Given the description of an element on the screen output the (x, y) to click on. 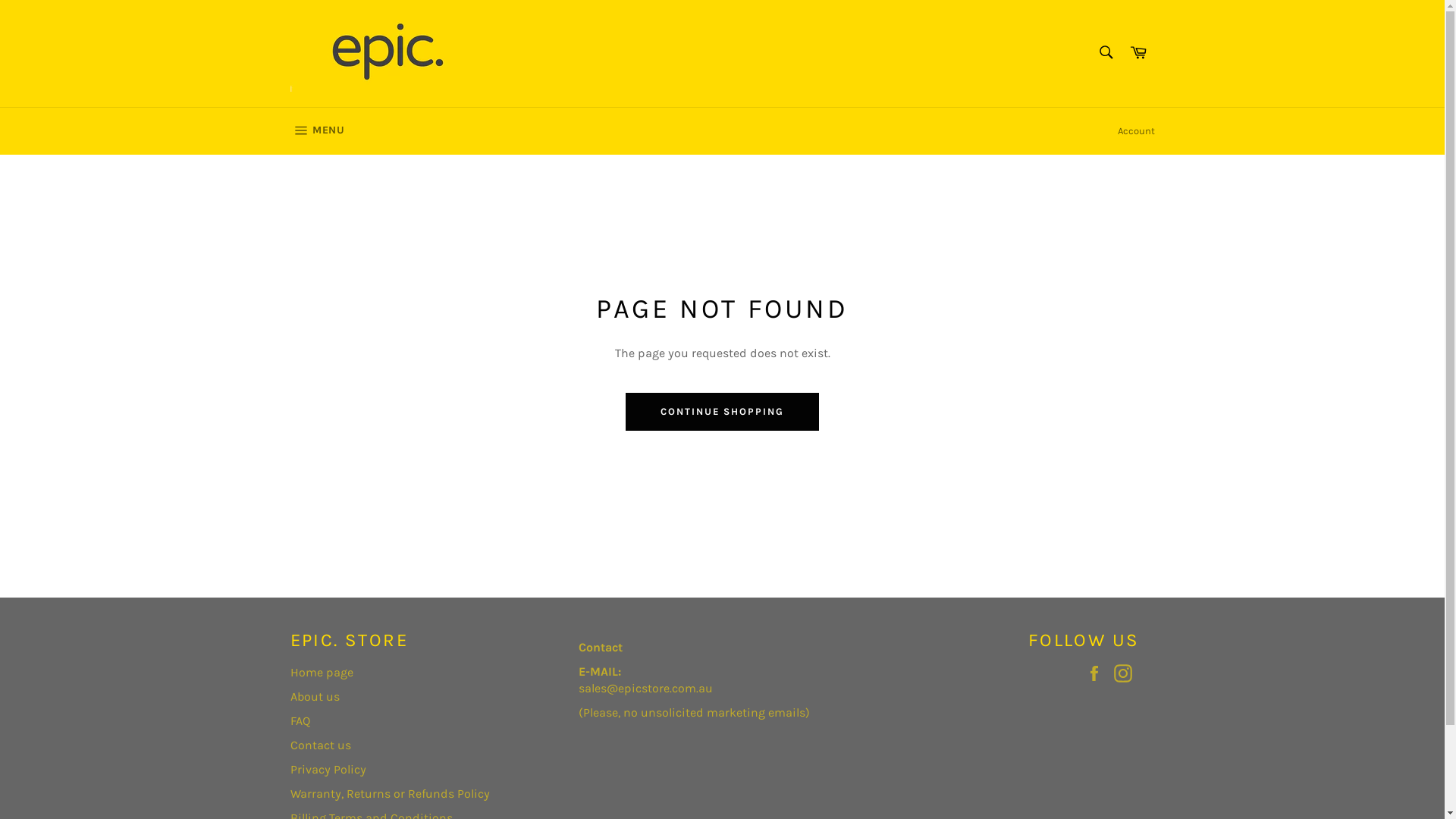
CONTINUE SHOPPING Element type: text (722, 411)
Instagram Element type: text (1126, 673)
FAQ Element type: text (299, 720)
MENU
SITE NAVIGATION Element type: text (316, 130)
Warranty, Returns or Refunds Policy Element type: text (389, 793)
Cart Element type: text (1138, 53)
About us Element type: text (313, 696)
Contact us Element type: text (319, 744)
Search Element type: text (1105, 52)
Account Element type: text (1136, 131)
Home page Element type: text (320, 672)
Facebook Element type: text (1097, 673)
Privacy Policy Element type: text (327, 769)
